Given the description of an element on the screen output the (x, y) to click on. 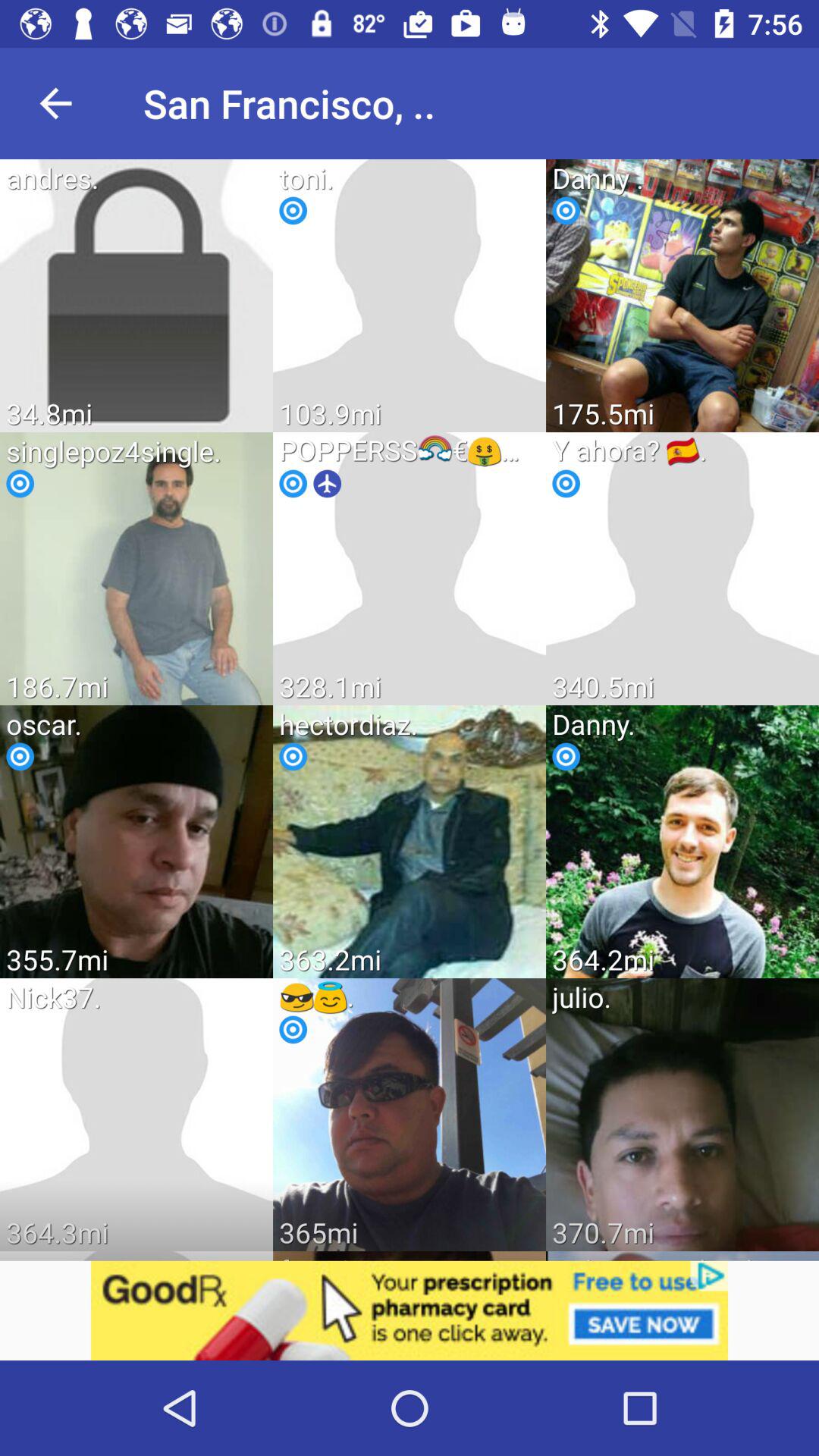
screeb page (409, 1310)
